Given the description of an element on the screen output the (x, y) to click on. 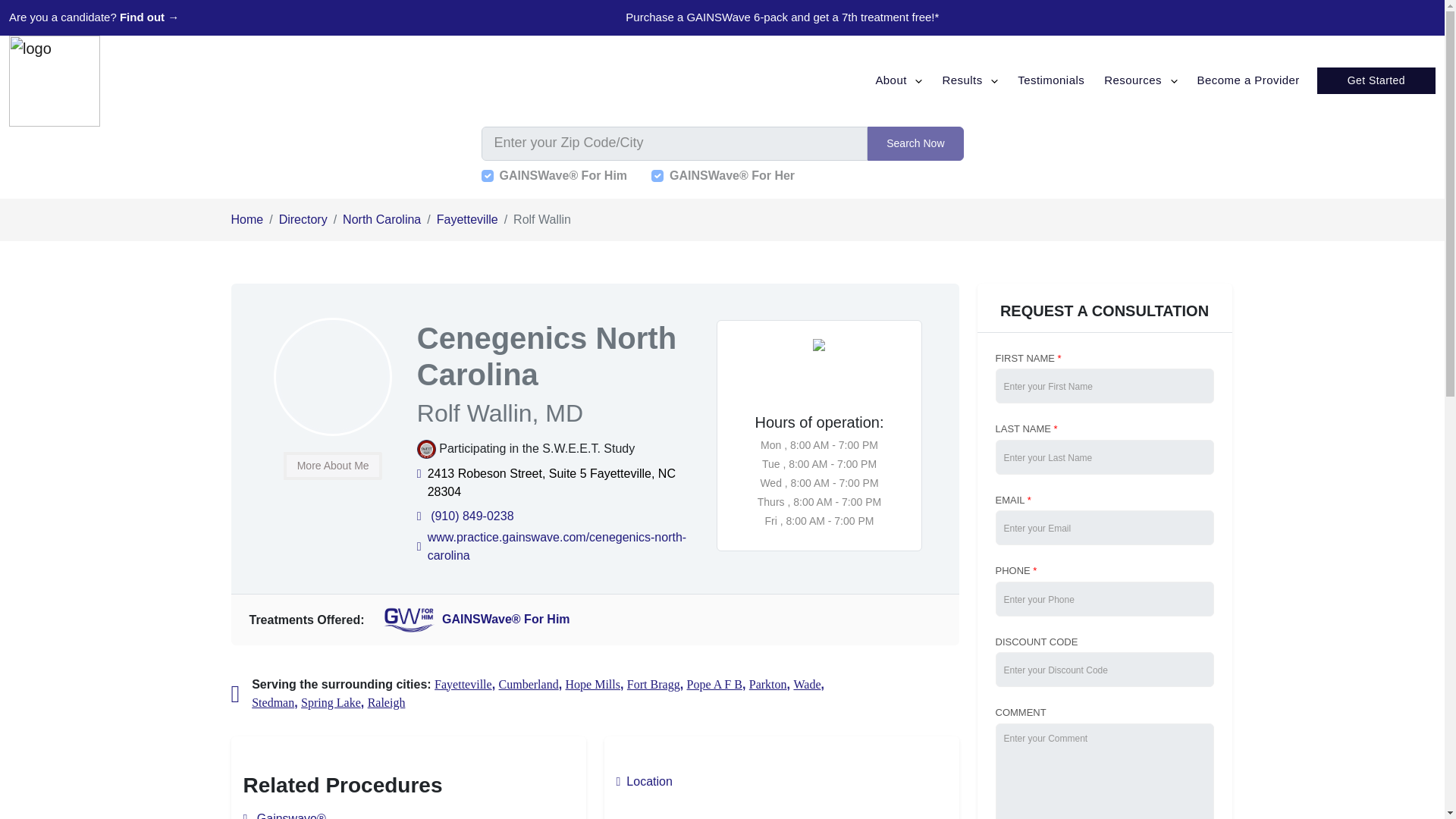
Results (969, 80)
Become a Provider (1248, 80)
North Carolina (381, 218)
3 (656, 175)
Resources (1140, 80)
Search Now (914, 142)
Directory (303, 218)
2413 Robeson Street, Suite 5 Fayetteville, NC 28304 (563, 483)
About (897, 80)
Testimonials (1050, 80)
message (1103, 771)
Fayetteville (466, 218)
2 (486, 175)
Home (246, 218)
Get Started (1376, 80)
